Given the description of an element on the screen output the (x, y) to click on. 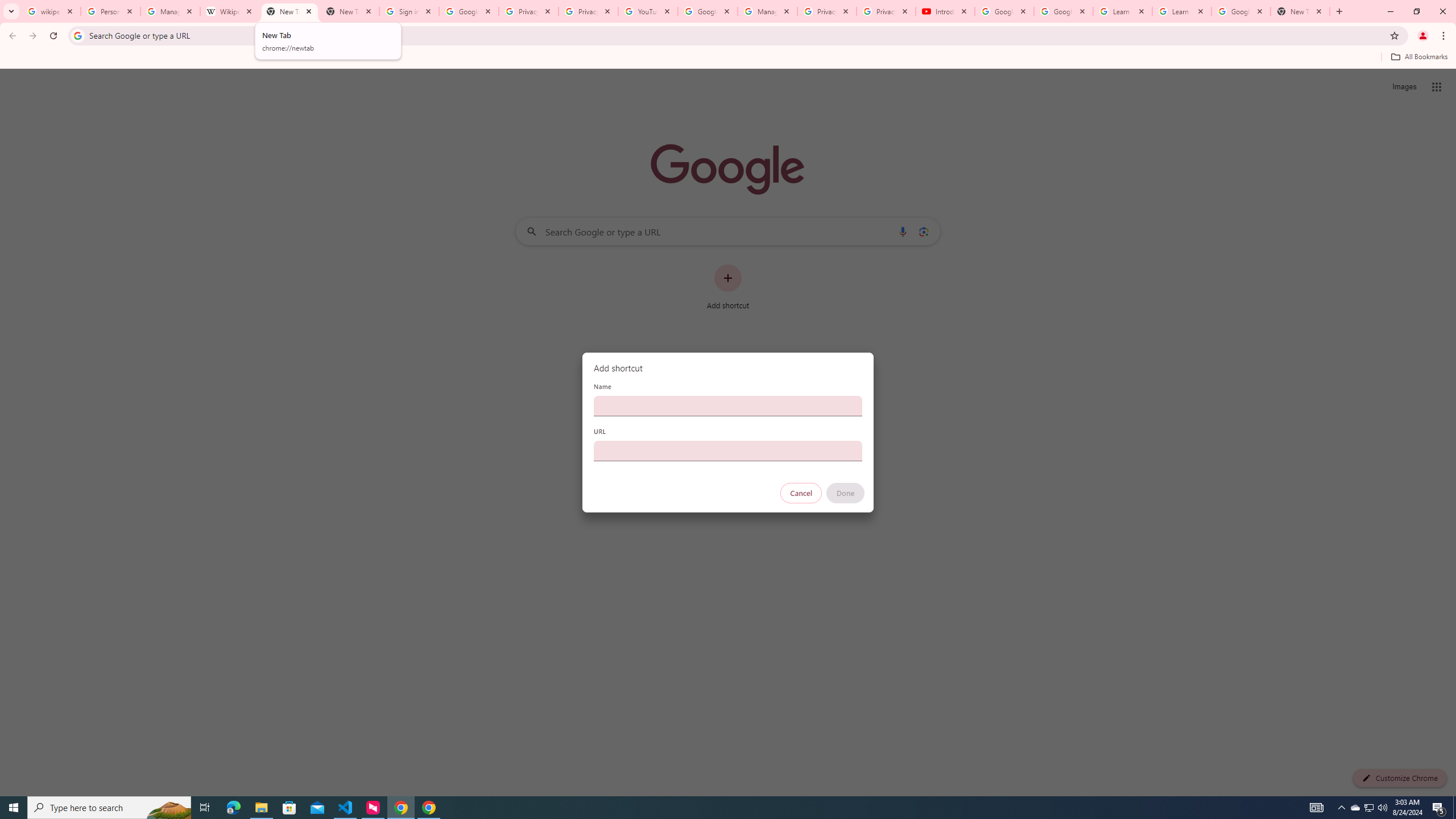
Introduction | Google Privacy Policy - YouTube (944, 11)
Wikipedia:Edit requests - Wikipedia (229, 11)
Search icon (77, 35)
Personalization & Google Search results - Google Search Help (110, 11)
Name (727, 405)
All Bookmarks (1418, 56)
